Given the description of an element on the screen output the (x, y) to click on. 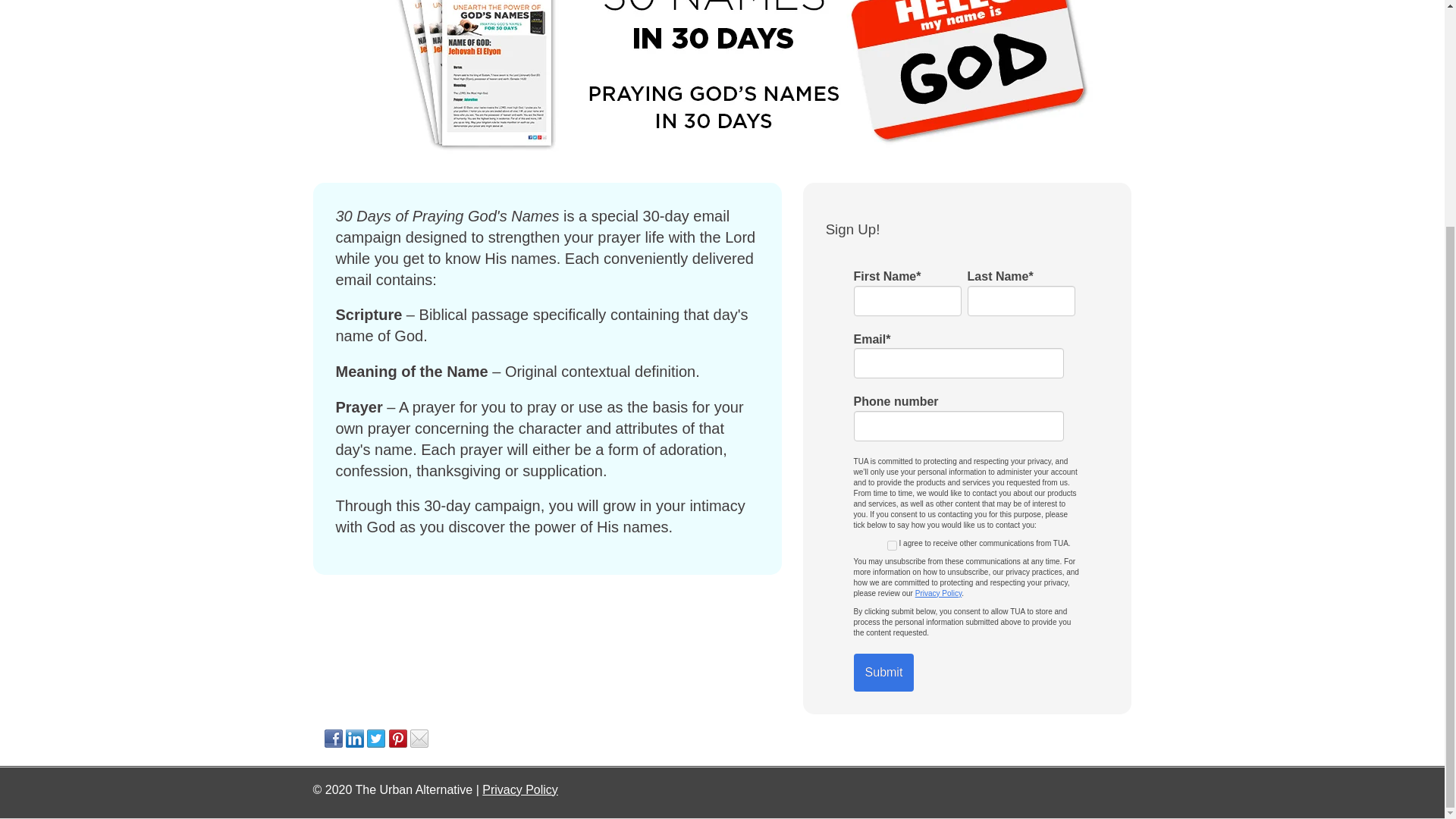
Privacy Policy (938, 592)
Submit (883, 672)
Privacy Policy (519, 789)
Submit (883, 672)
true (891, 545)
30-Days-of-Praying-Gods-Names-Header.jpg (721, 79)
